Given the description of an element on the screen output the (x, y) to click on. 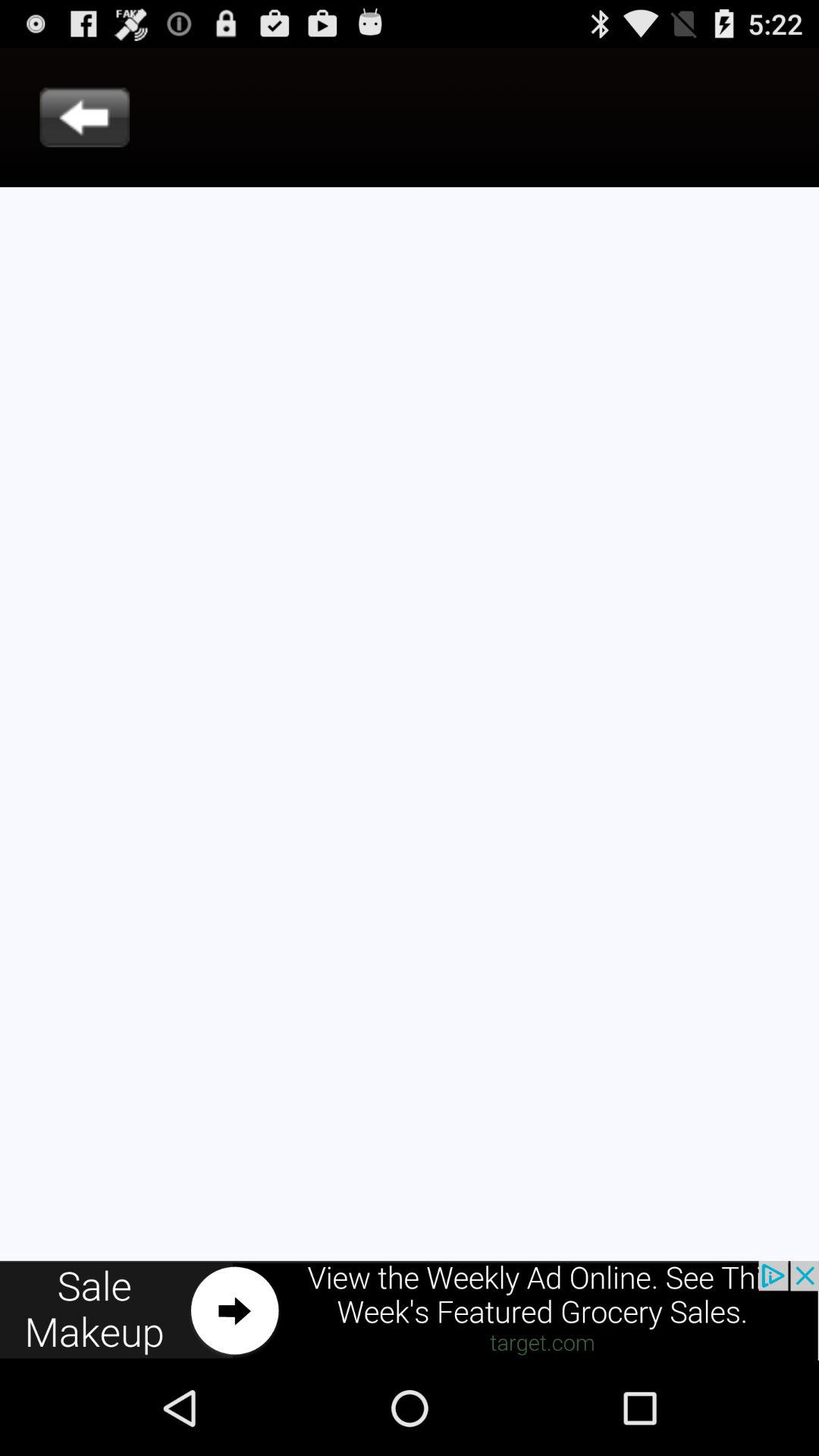
go back to previous page (84, 117)
